Given the description of an element on the screen output the (x, y) to click on. 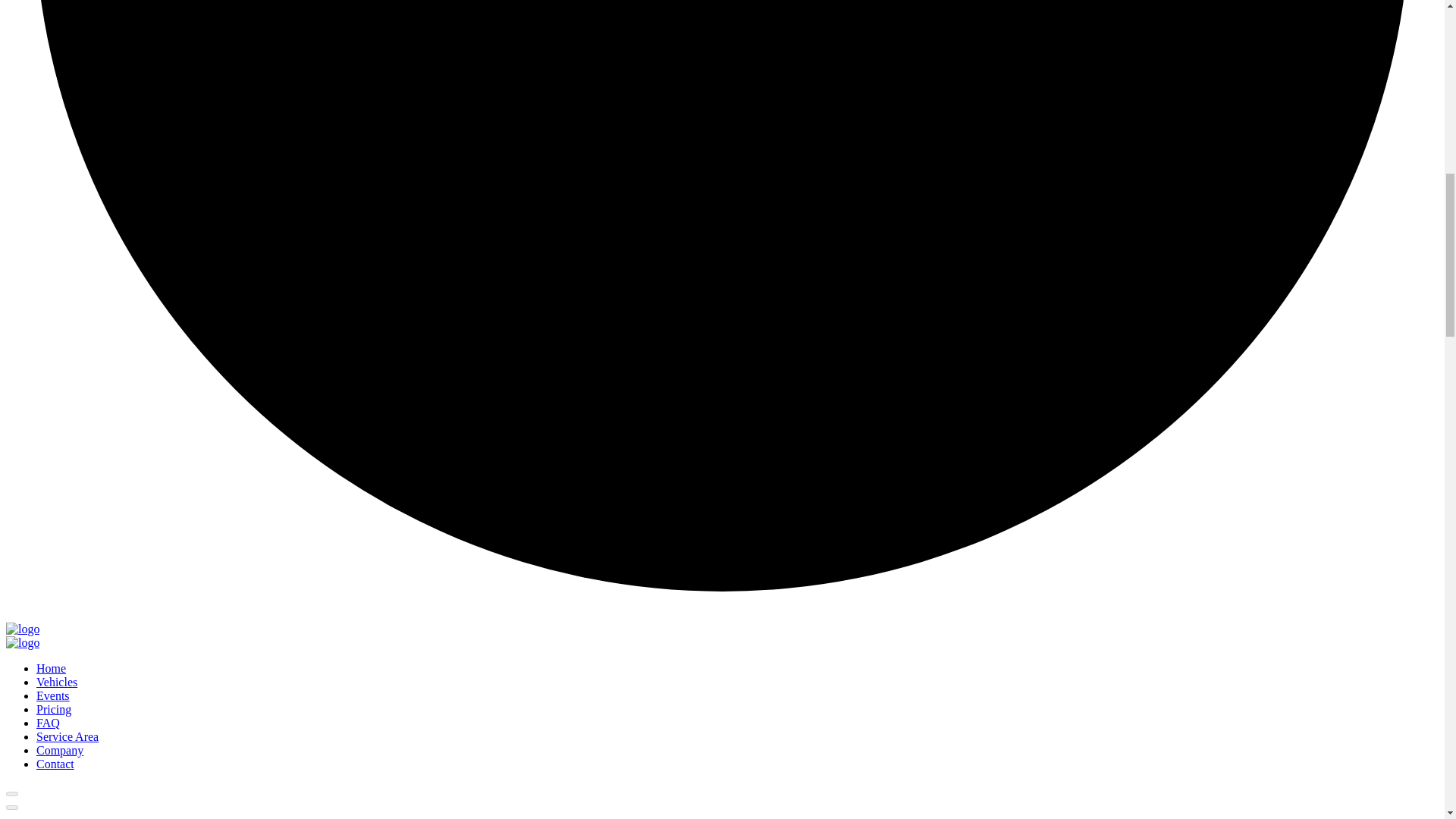
Vehicles (56, 681)
Company (59, 749)
Pricing (53, 708)
Events (52, 695)
FAQ (47, 722)
Home (50, 667)
Service Area (67, 736)
Contact (55, 763)
